Given the description of an element on the screen output the (x, y) to click on. 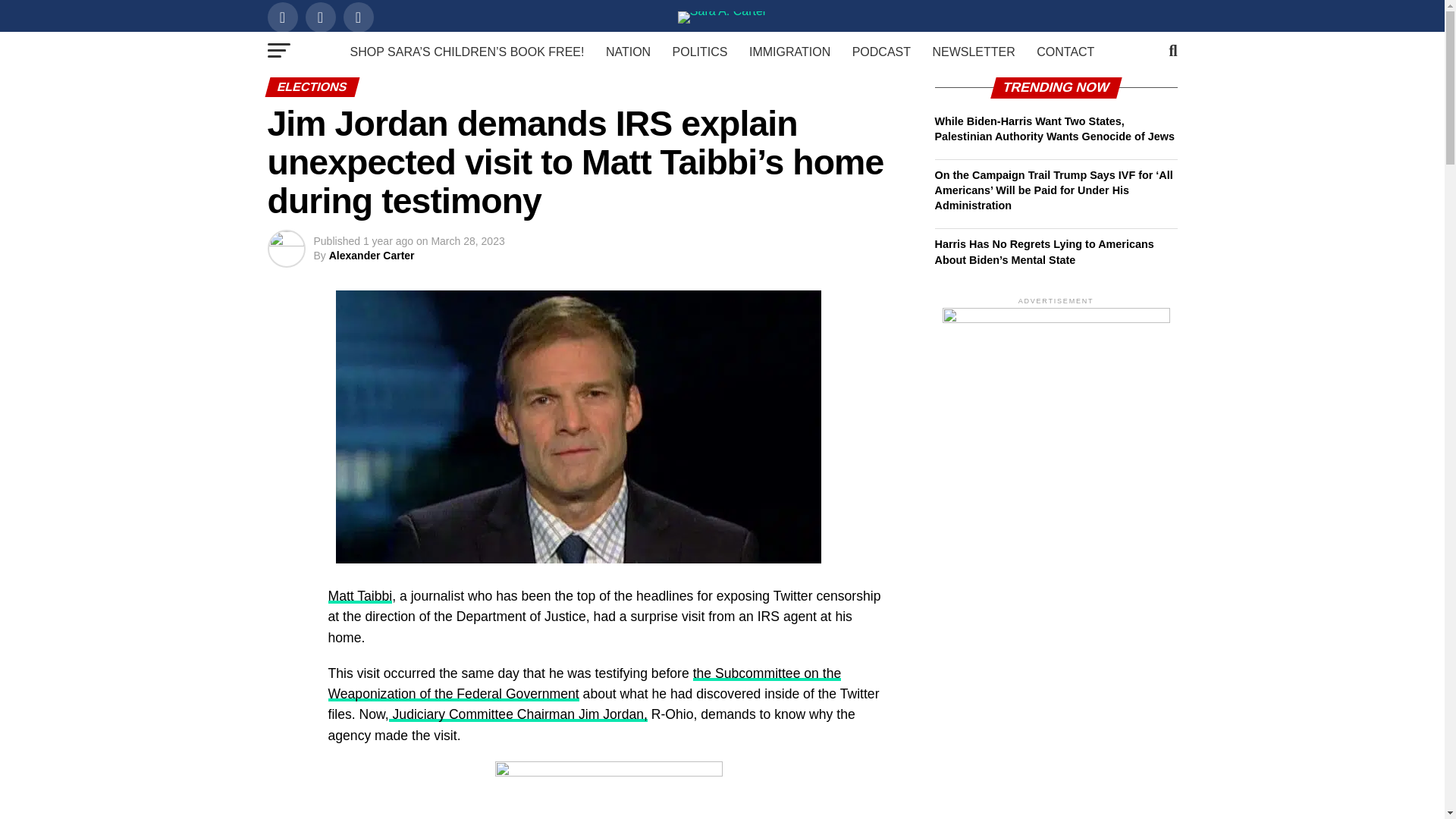
NEWSLETTER (973, 51)
Judiciary Committee Chairman Jim Jordan, (517, 713)
IMMIGRATION (789, 51)
NATION (627, 51)
PODCAST (881, 51)
Matt Taibbi (359, 595)
Alexander Carter (371, 255)
Posts by Alexander Carter (371, 255)
CONTACT (1065, 51)
